Given the description of an element on the screen output the (x, y) to click on. 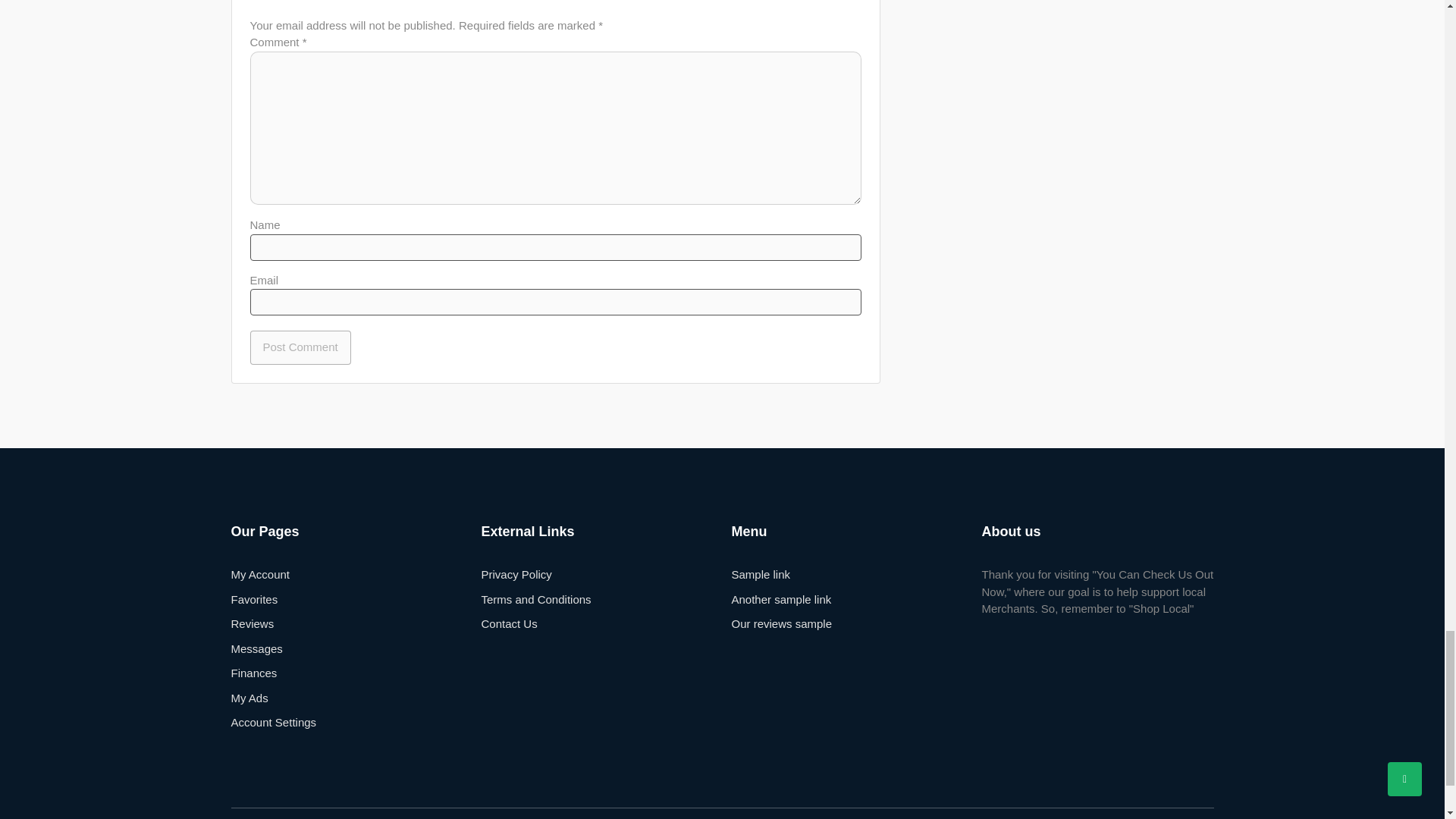
Post Comment (300, 347)
Post Comment (300, 347)
